Given the description of an element on the screen output the (x, y) to click on. 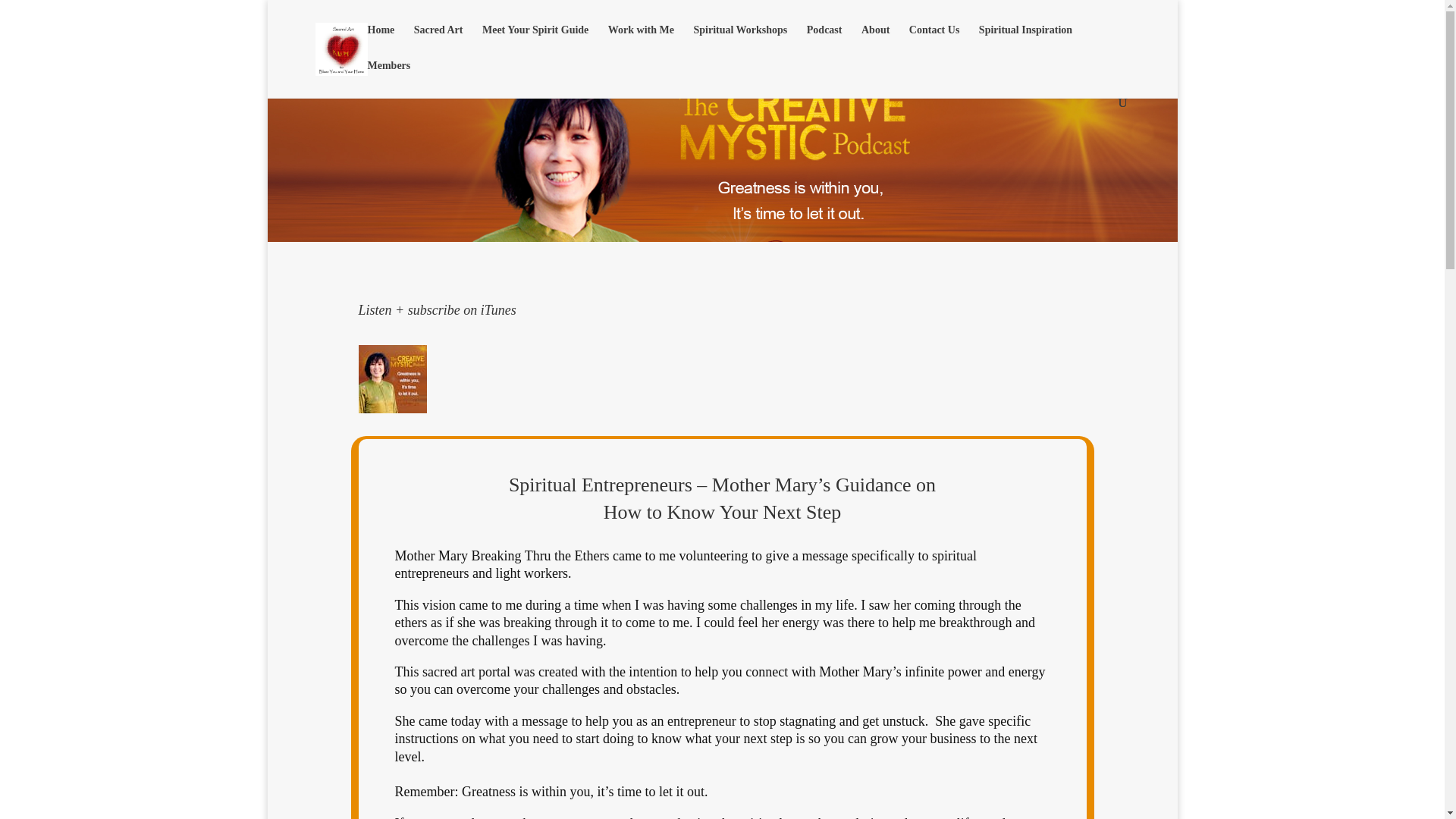
Spiritual Inspiration (1024, 42)
Podcast (824, 42)
Members (388, 78)
Meet Your Spirit Guide (534, 42)
Contact Us (933, 42)
Work with Me (641, 42)
iTunes (498, 309)
Sacred Art (438, 42)
Libsyn Player (722, 378)
Spiritual Workshops (740, 42)
